Given the description of an element on the screen output the (x, y) to click on. 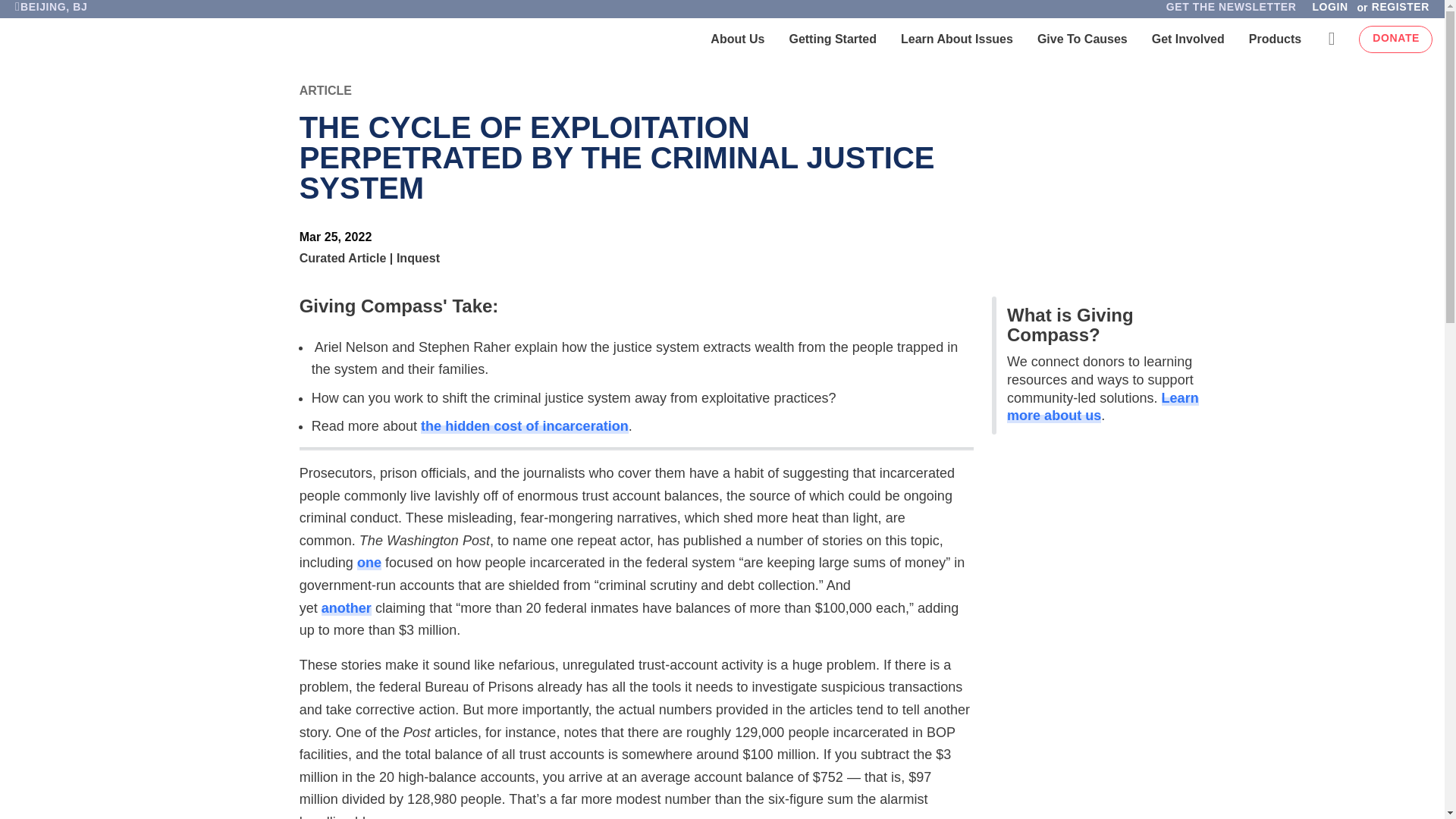
GET THE NEWSLETTER (1231, 10)
REGISTER (1404, 10)
another (346, 607)
Learn more about us (1102, 407)
BEIJING, BJ (50, 10)
the hidden cost of incarceration (524, 426)
LOGIN (1329, 10)
one (368, 562)
SAVE (33, 134)
DONATE (1395, 39)
